Given the description of an element on the screen output the (x, y) to click on. 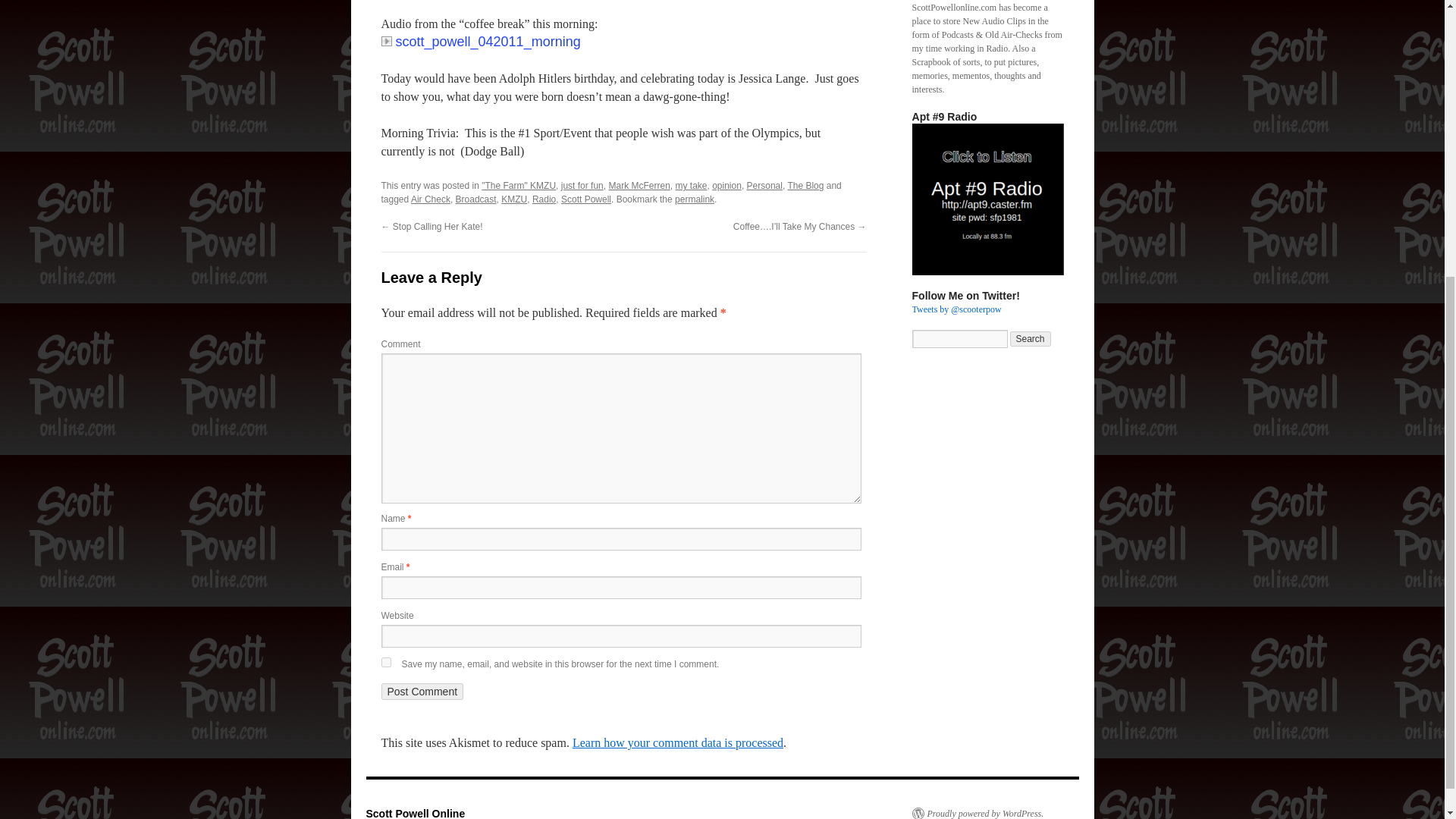
Permalink to Good News on the Home Front (694, 199)
Personal (764, 185)
Learn how your comment data is processed (677, 742)
my take (690, 185)
Scott Powell (585, 199)
Mark McFerren (638, 185)
Post Comment (421, 691)
Air Check (429, 199)
"The Farm" KMZU (518, 185)
permalink (694, 199)
opinion (726, 185)
Radio (544, 199)
Post Comment (421, 691)
yes (385, 662)
KMZU (513, 199)
